Given the description of an element on the screen output the (x, y) to click on. 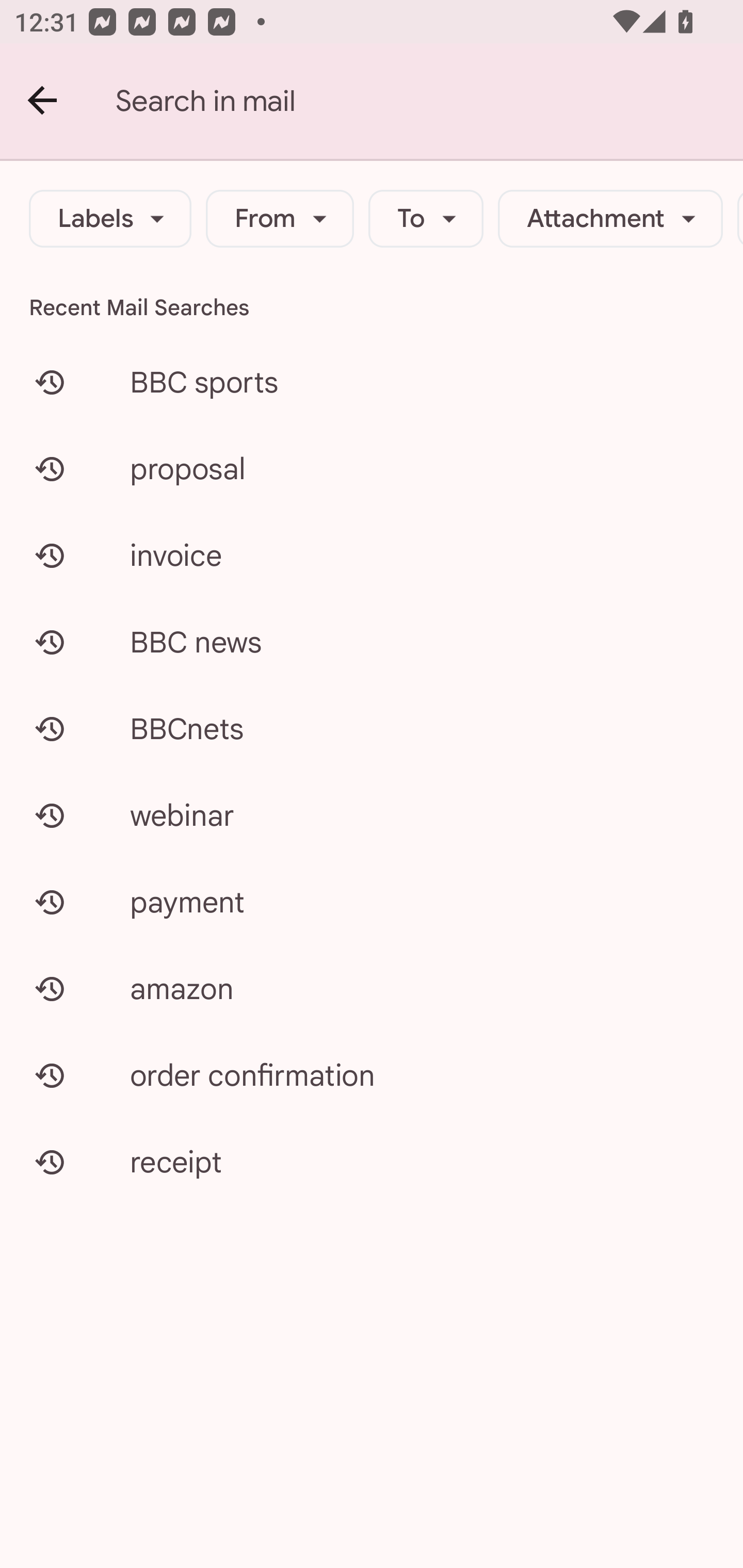
Back (43, 101)
Search in mail (429, 101)
Labels (109, 218)
From (279, 218)
To (425, 218)
Attachment (609, 218)
Recent Mail Searches (371, 306)
BBC sports Suggestion: BBC sports (371, 381)
proposal Suggestion: proposal (371, 468)
invoice Suggestion: invoice (371, 555)
BBC news Suggestion: BBC news (371, 641)
BBCnets Suggestion: BBCnets (371, 728)
webinar Suggestion: webinar (371, 815)
payment Suggestion: payment (371, 902)
amazon Suggestion: amazon (371, 988)
order confirmation Suggestion: order confirmation (371, 1074)
receipt Suggestion: receipt (371, 1161)
